Given the description of an element on the screen output the (x, y) to click on. 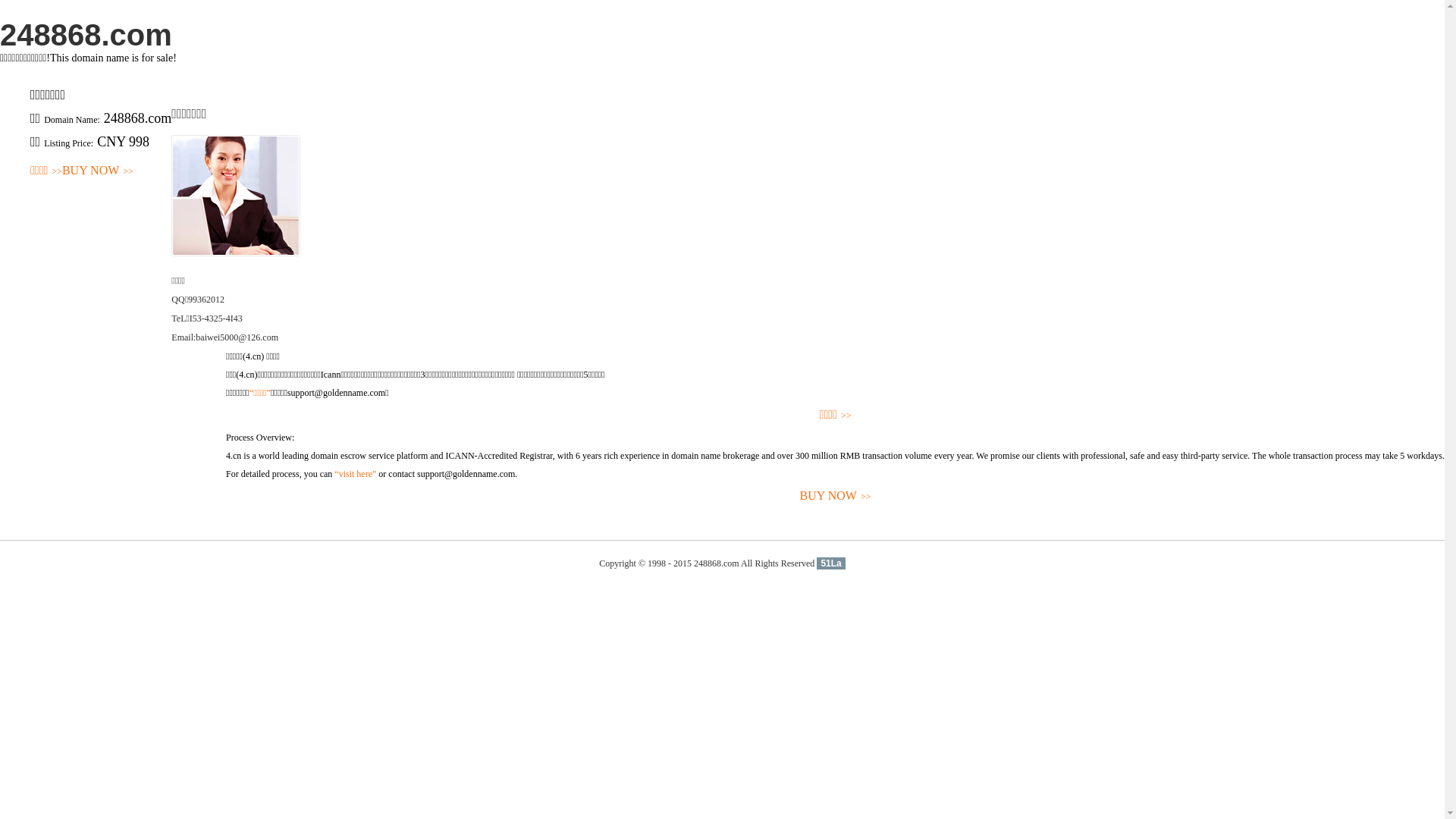
51La Element type: text (830, 563)
BUY NOW>> Element type: text (834, 496)
BUY NOW>> Element type: text (97, 170)
